Given the description of an element on the screen output the (x, y) to click on. 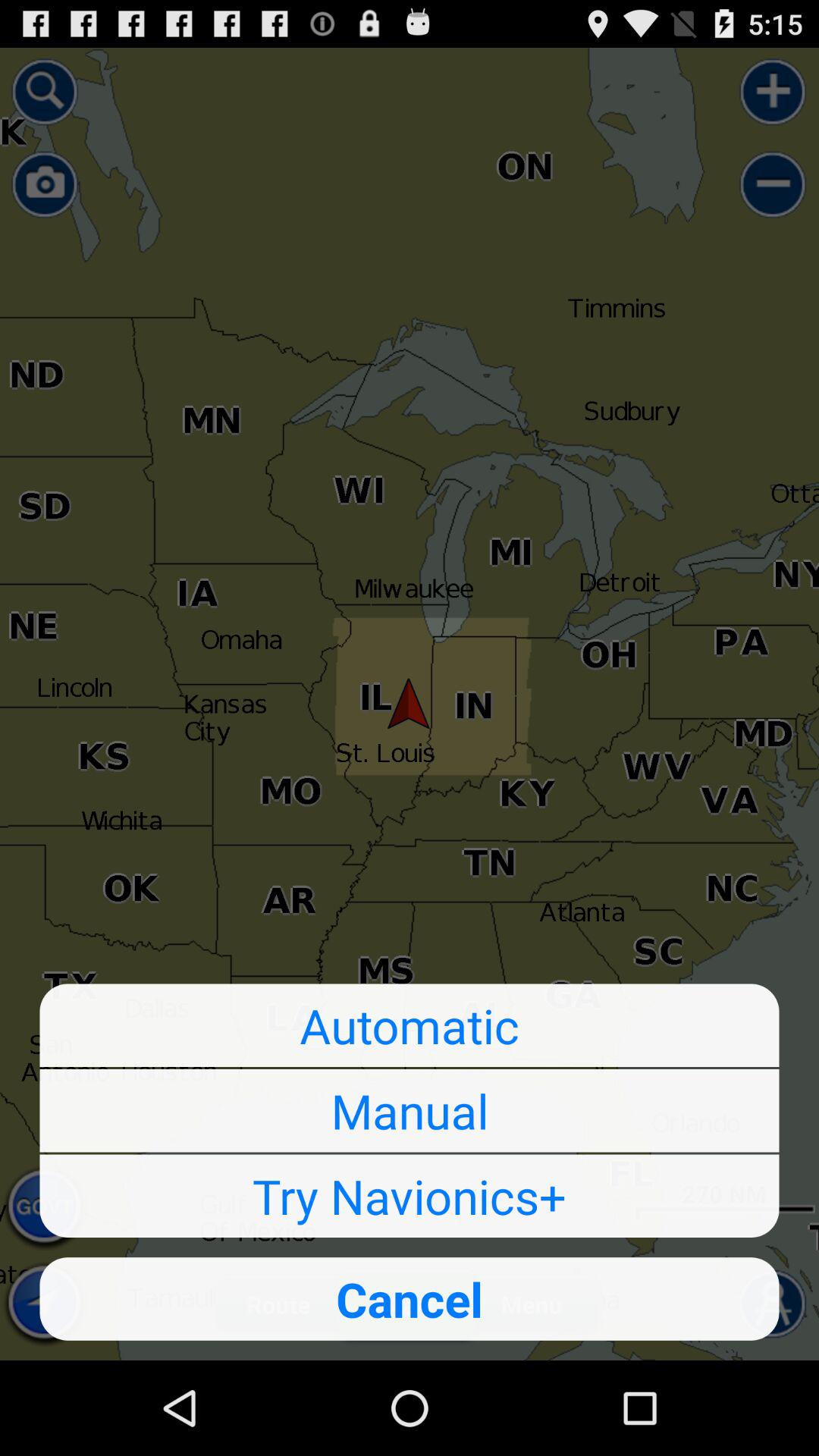
choose the item below automatic button (409, 1110)
